Given the description of an element on the screen output the (x, y) to click on. 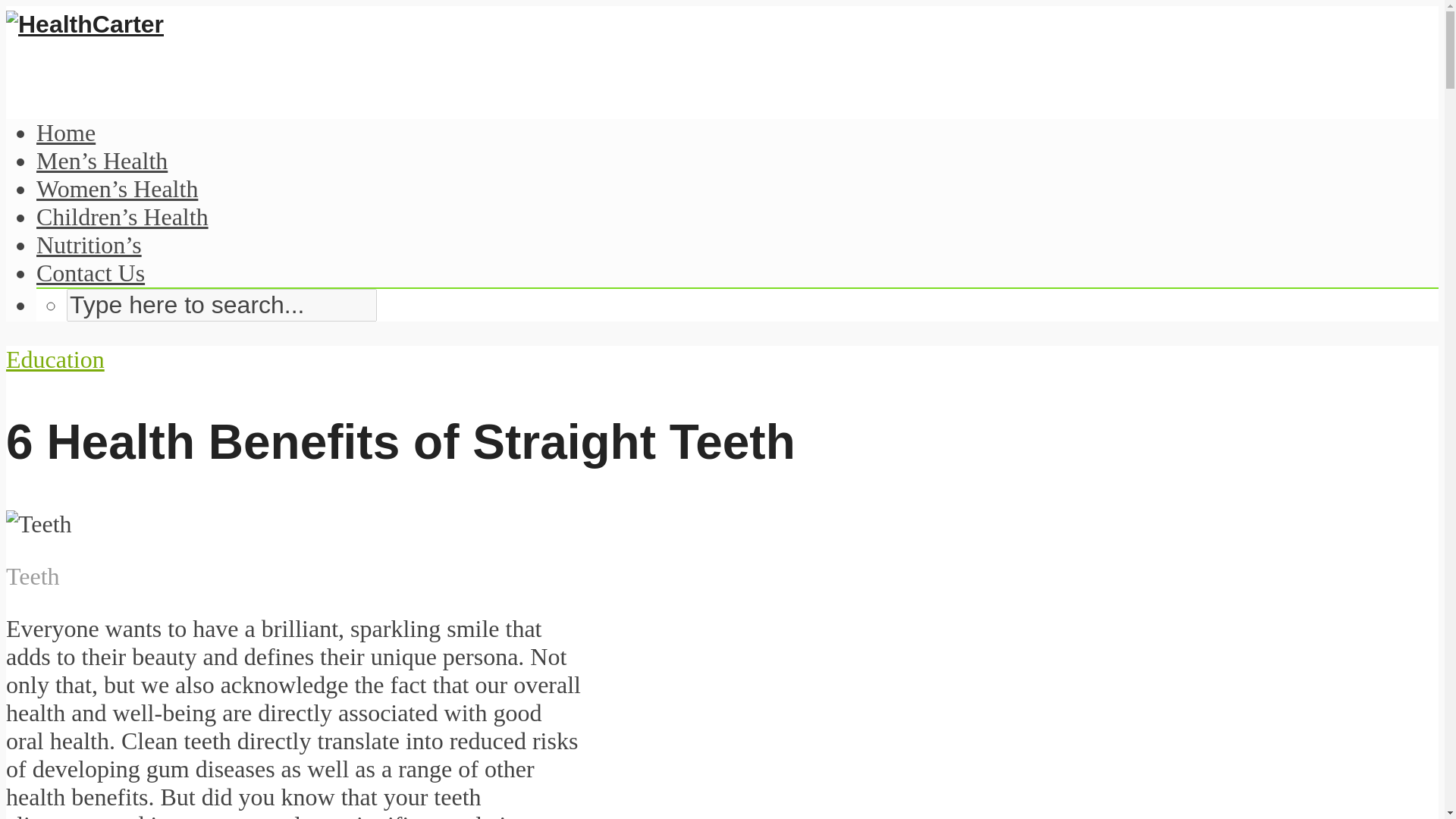
Type here to search... (221, 305)
Type here to search... (221, 305)
Home (66, 132)
Contact Us (90, 272)
HealthCarter (84, 23)
Education (54, 359)
